Given the description of an element on the screen output the (x, y) to click on. 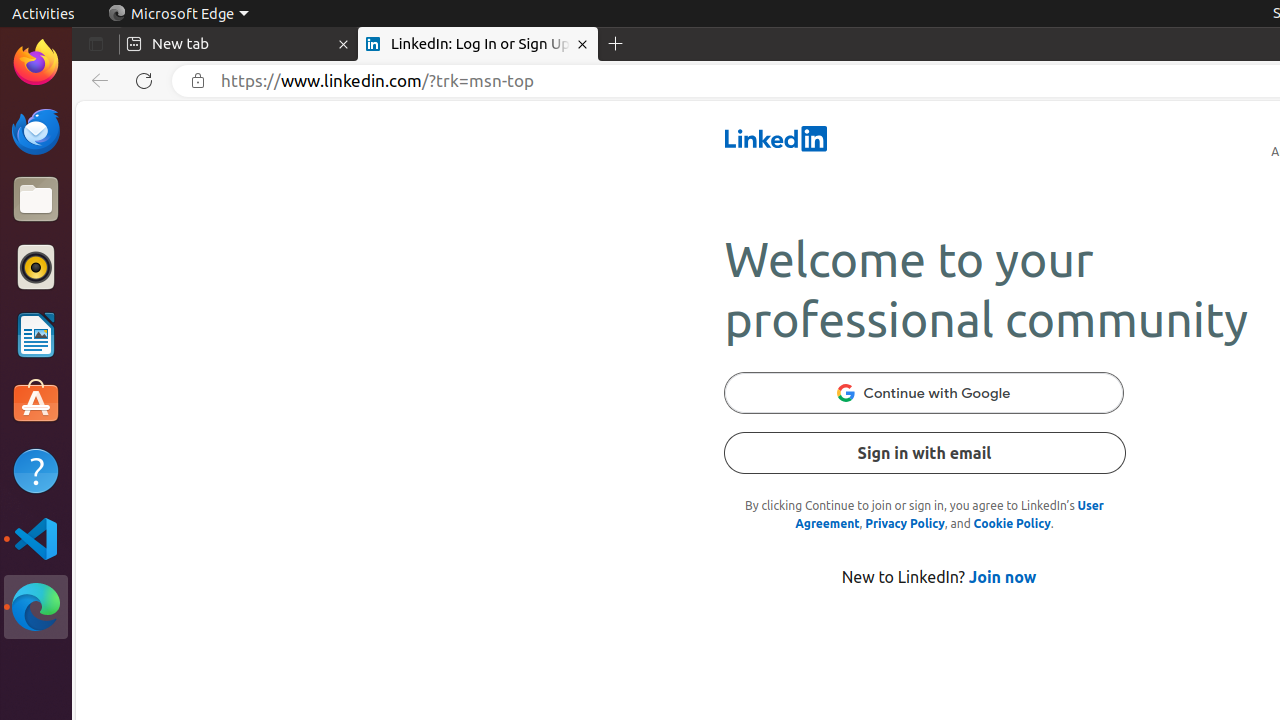
Ubuntu Software Element type: push-button (36, 402)
Cookie Policy Element type: link (1012, 523)
New Tab Element type: push-button (616, 44)
Files Element type: push-button (36, 199)
View site information Element type: push-button (198, 81)
